Given the description of an element on the screen output the (x, y) to click on. 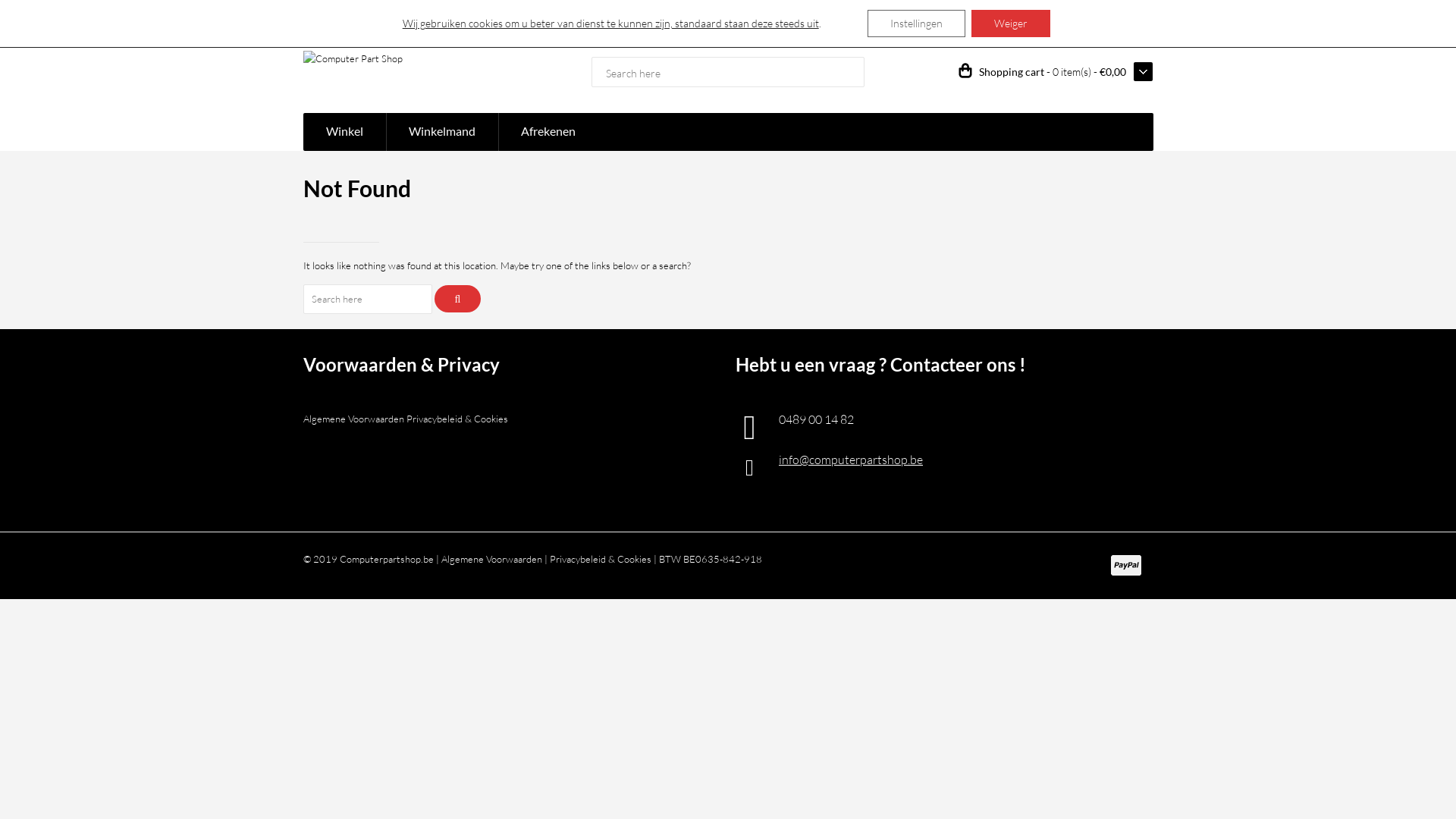
Computer Part Shop -  Element type: hover (352, 58)
Register Element type: text (453, 15)
Search Element type: hover (847, 72)
Privacybeleid Element type: text (1125, 15)
Search Element type: hover (456, 298)
Algemene Voorwaarden Element type: text (353, 418)
Algemene Voorwaarden Element type: text (491, 558)
Afrekenen Element type: text (547, 131)
Instellingen Element type: text (916, 23)
Weiger Element type: text (1010, 23)
Login Element type: text (414, 15)
Algemene Voorwaarden Element type: text (1039, 15)
Privacybeleid & Cookies | Element type: text (602, 558)
Winkelmand Element type: text (441, 131)
Privacybeleid & Cookies Element type: text (457, 418)
Winkel Element type: text (344, 131)
